Given the description of an element on the screen output the (x, y) to click on. 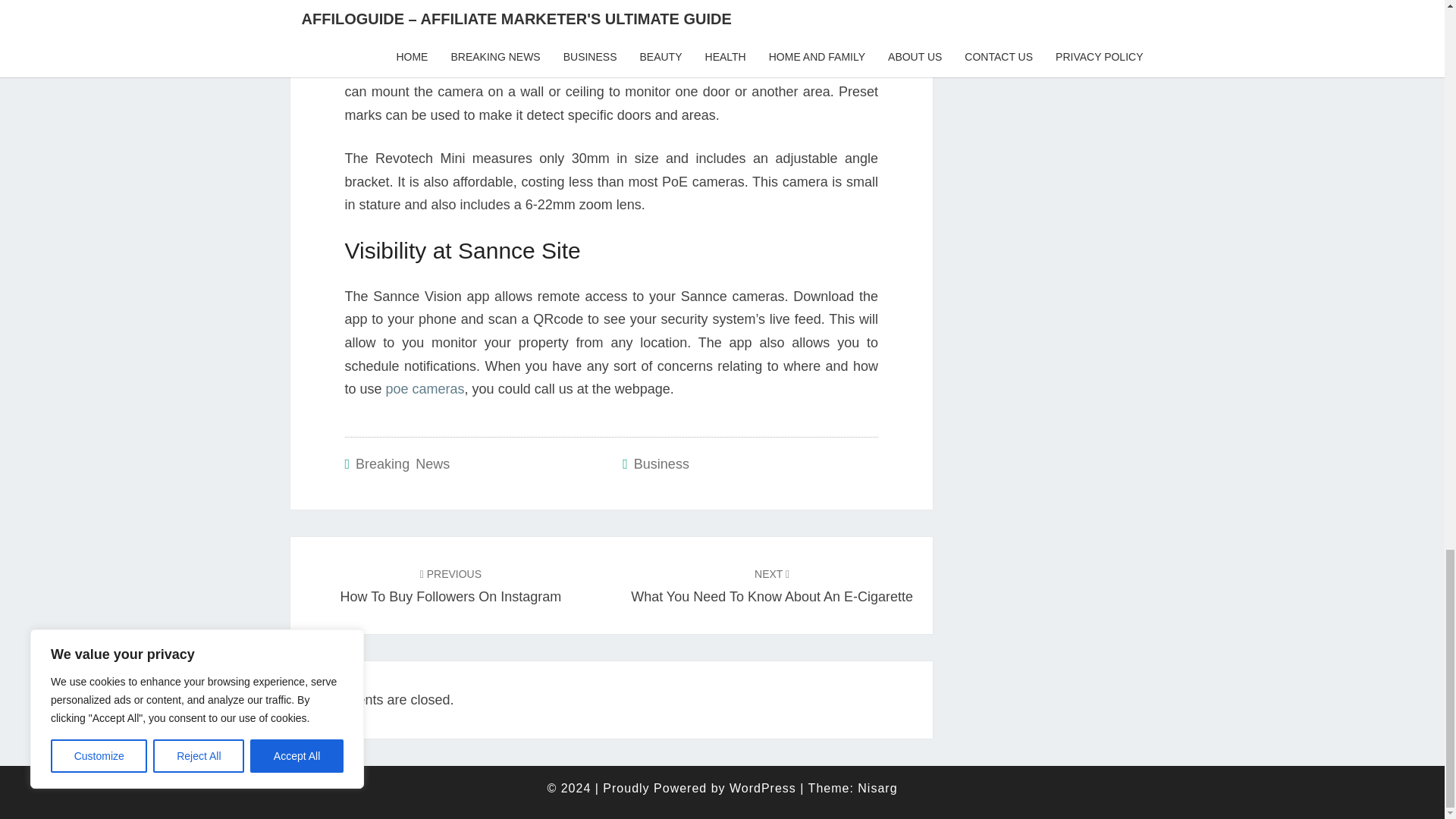
poe cameras (449, 584)
Breaking News (771, 584)
Business (424, 388)
